Given the description of an element on the screen output the (x, y) to click on. 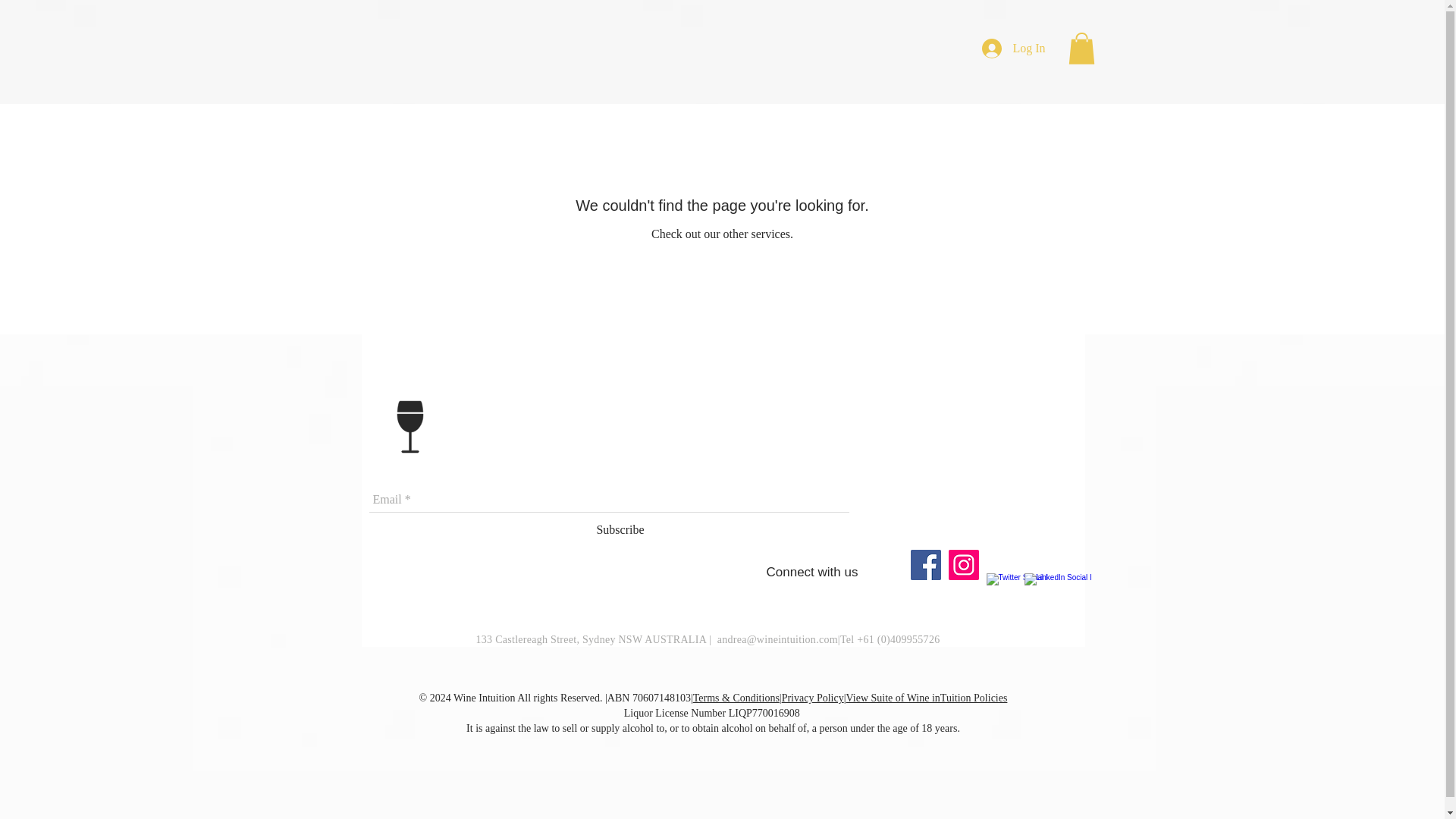
Subscribe (619, 529)
Log In (1013, 48)
View Suite of Wine inTuition Policies (926, 697)
Privacy Policy (812, 697)
